Given the description of an element on the screen output the (x, y) to click on. 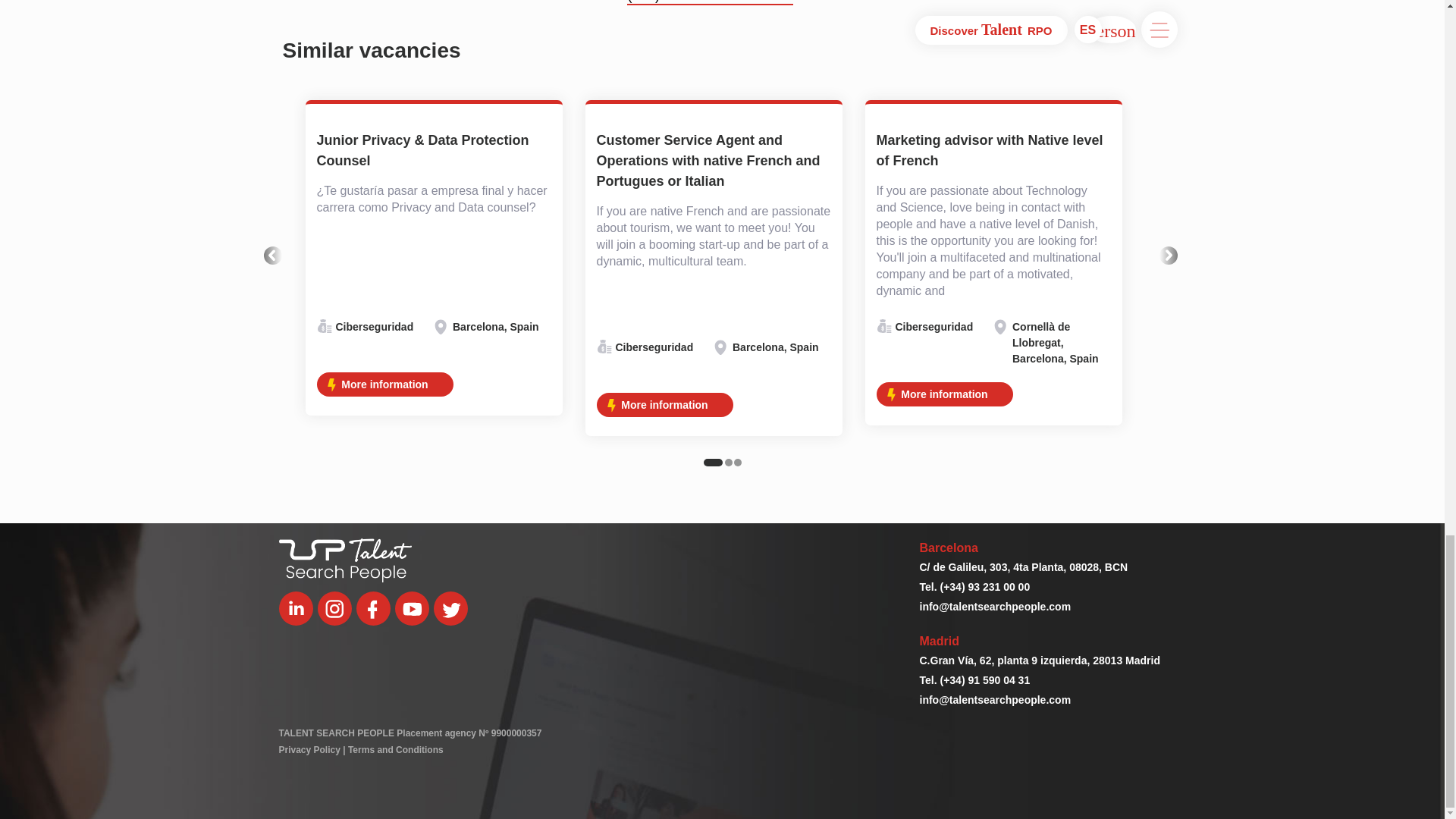
More information (944, 394)
Terms and Conditions (395, 749)
More information (384, 384)
More information (663, 404)
Privacy Policy (309, 749)
